Given the description of an element on the screen output the (x, y) to click on. 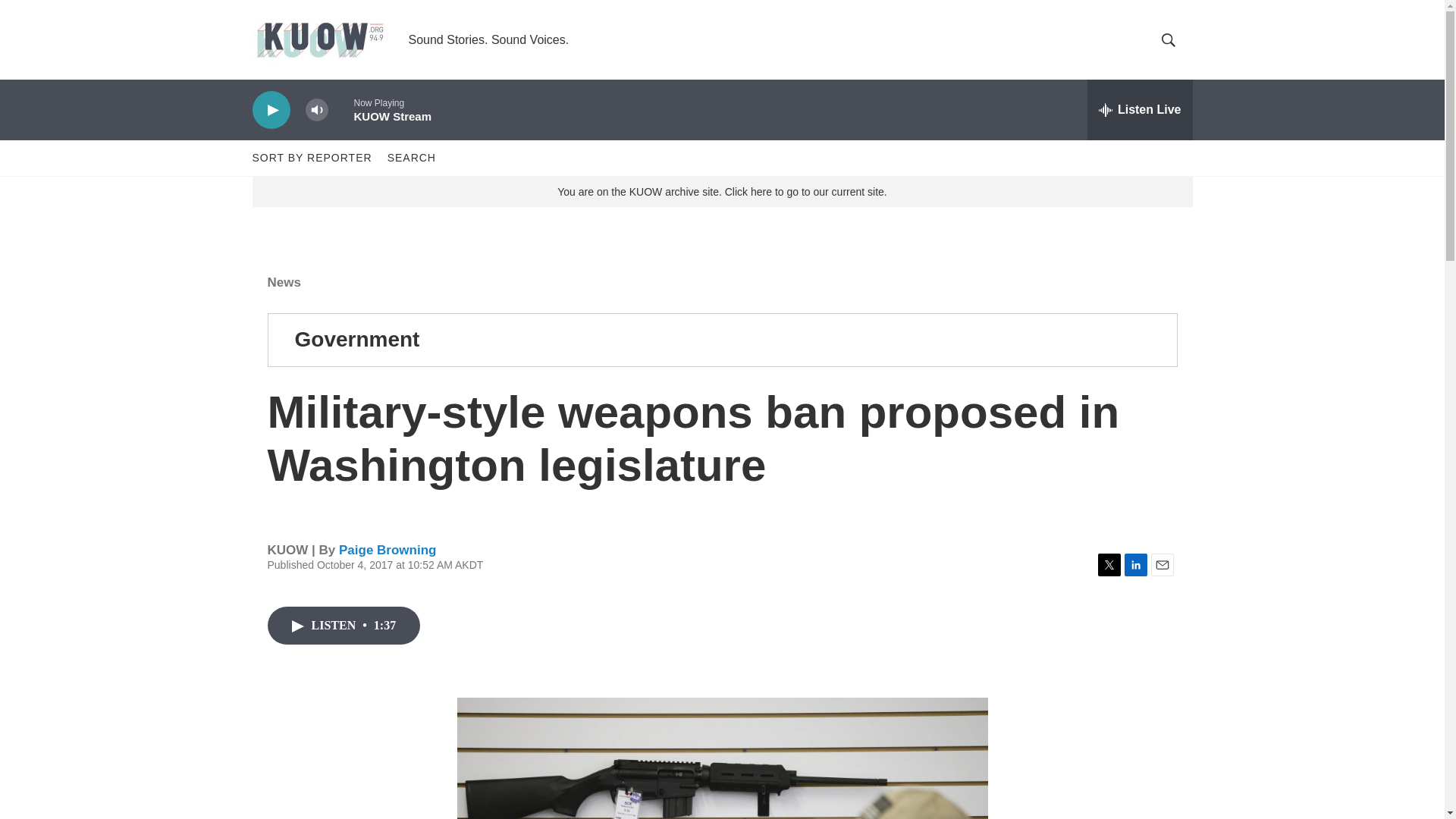
LinkedIn (1135, 564)
Paige Browning (387, 549)
Twitter (1109, 564)
SORT BY REPORTER (311, 158)
Listen Live (1139, 109)
Email (1162, 564)
Government (356, 339)
News (282, 282)
Show Search (1168, 39)
SEARCH (411, 158)
